Given the description of an element on the screen output the (x, y) to click on. 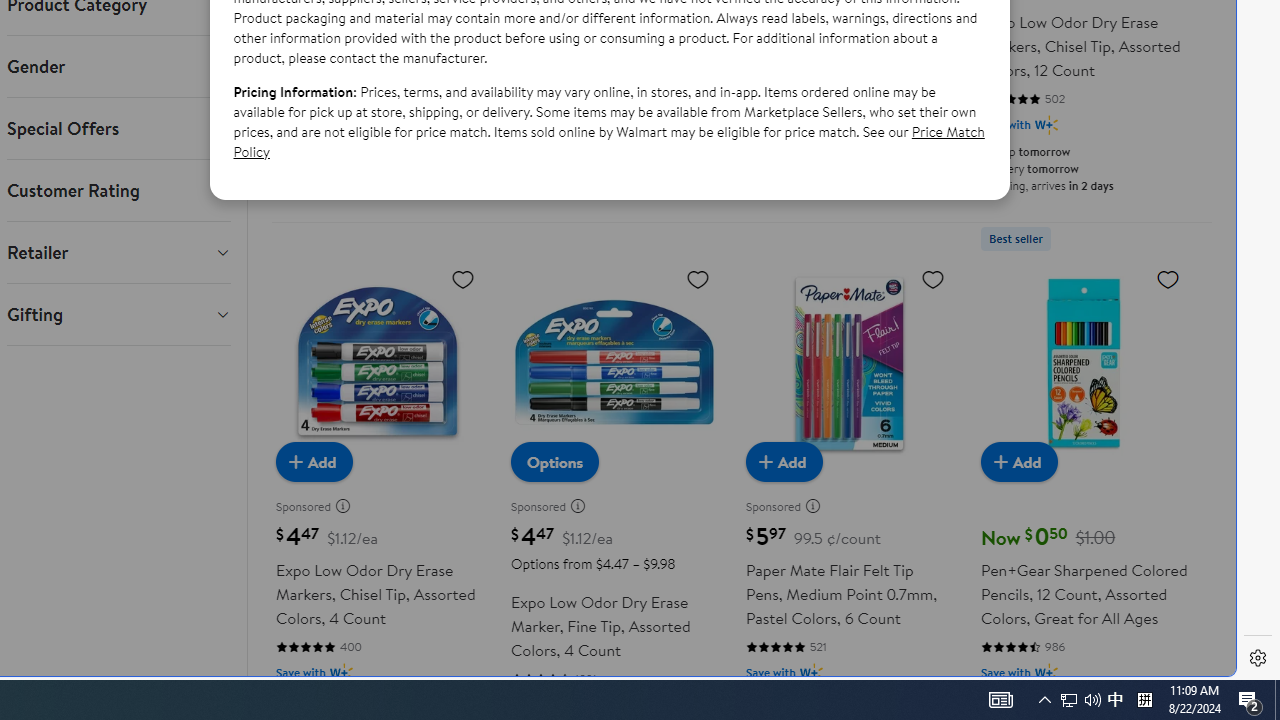
Price Match Policy (608, 141)
